Given the description of an element on the screen output the (x, y) to click on. 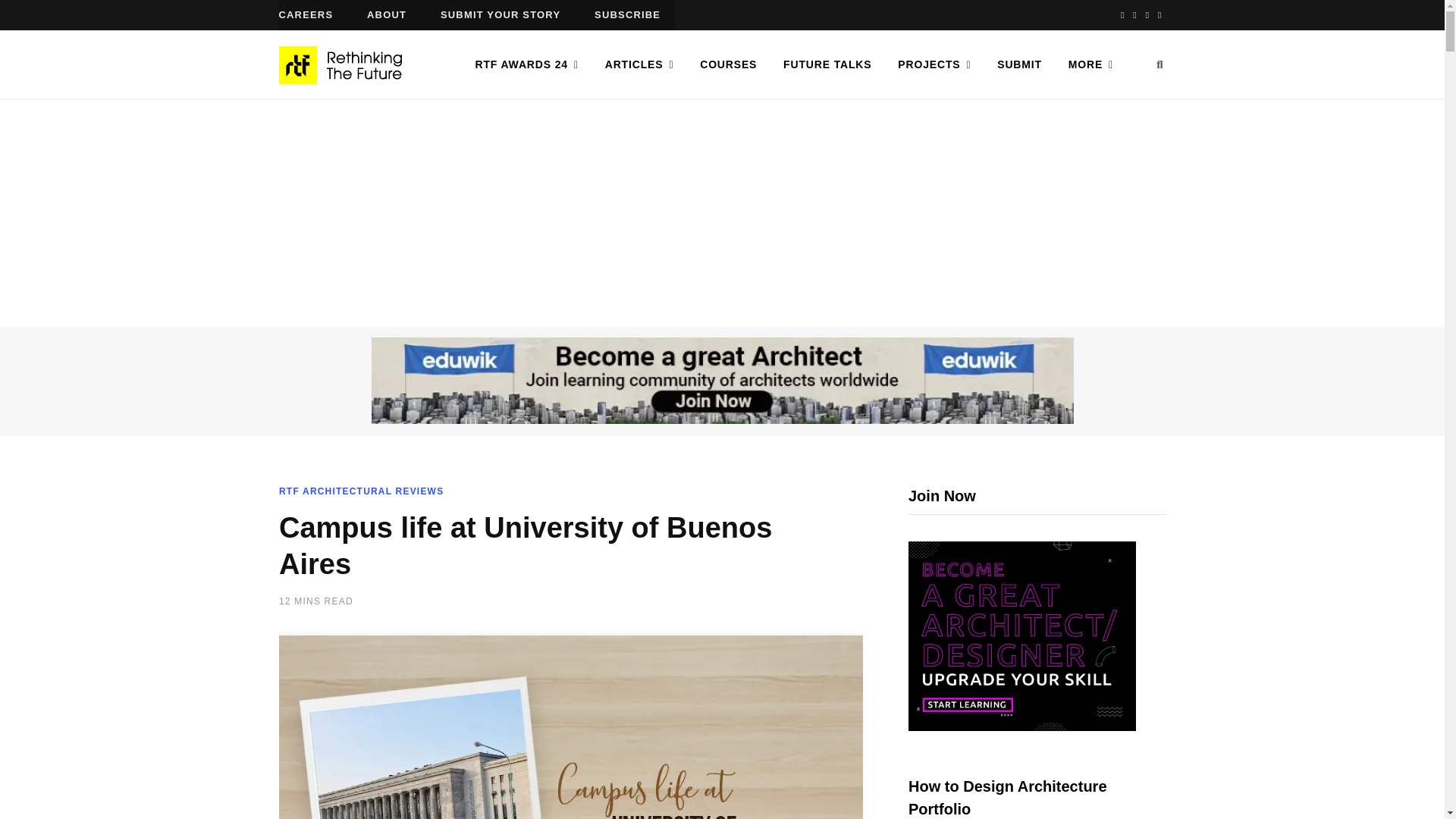
ABOUT (387, 15)
Campus life at University of Buenos Aires (571, 727)
Facebook (1122, 15)
SUBMIT YOUR STORY (500, 15)
Search (1159, 64)
Twitter (1134, 15)
CAREERS (306, 15)
SUBSCRIBE (627, 15)
Pinterest (1147, 15)
RTF AWARDS 24 (526, 64)
LinkedIn (1159, 15)
